Given the description of an element on the screen output the (x, y) to click on. 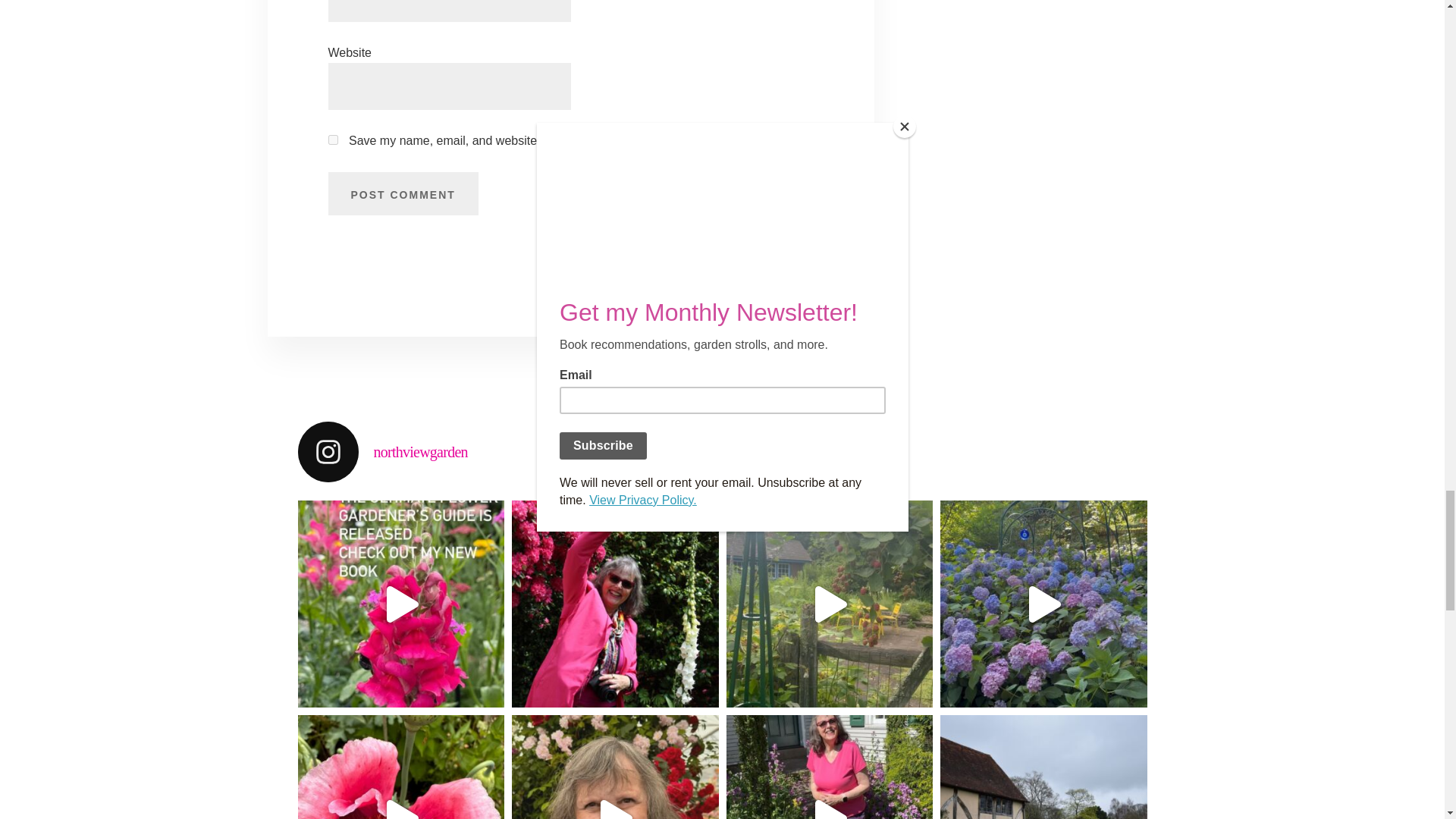
yes (332, 139)
Post Comment (402, 193)
Post Comment (402, 193)
